Given the description of an element on the screen output the (x, y) to click on. 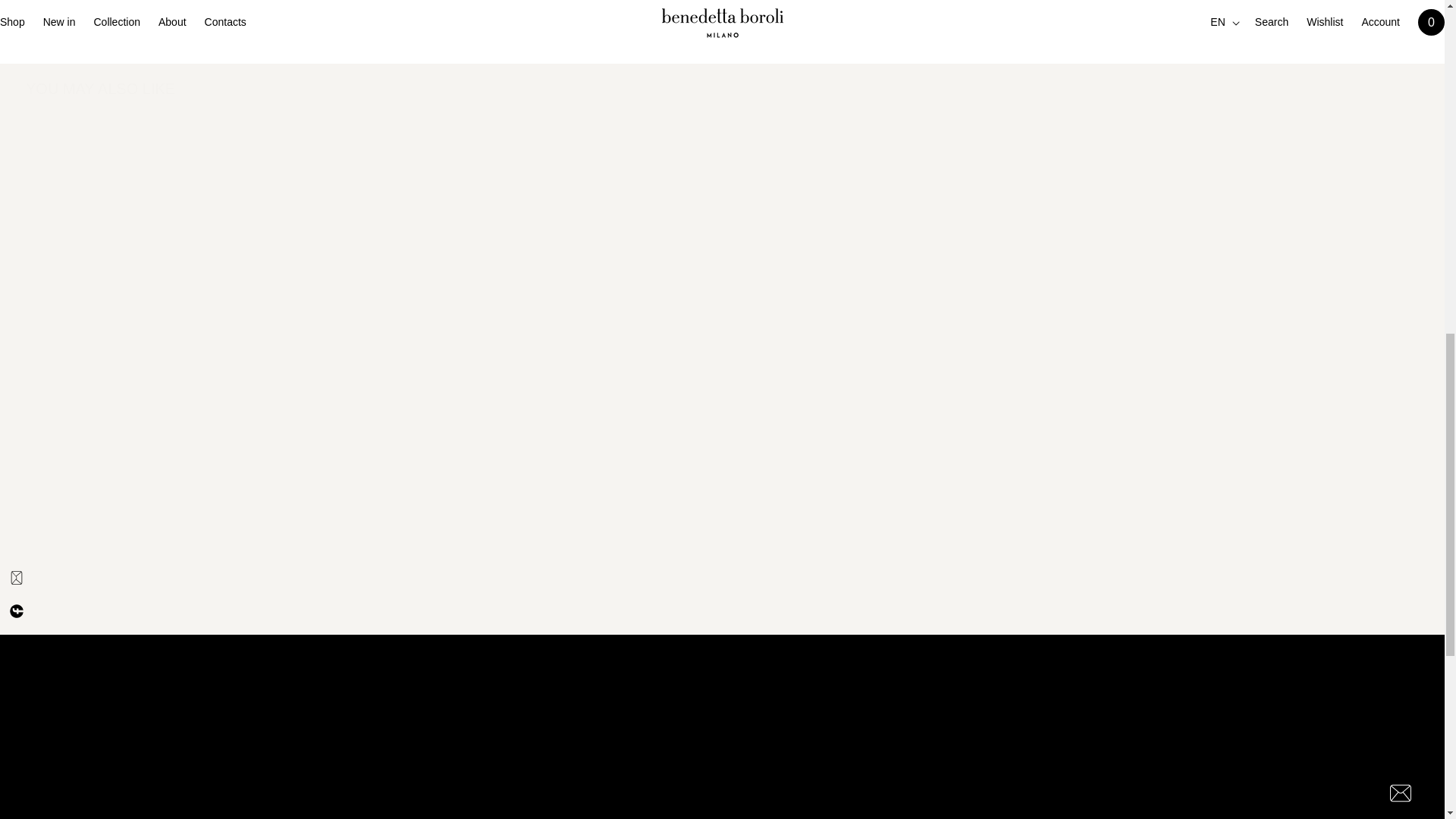
0 (993, 771)
